Given the description of an element on the screen output the (x, y) to click on. 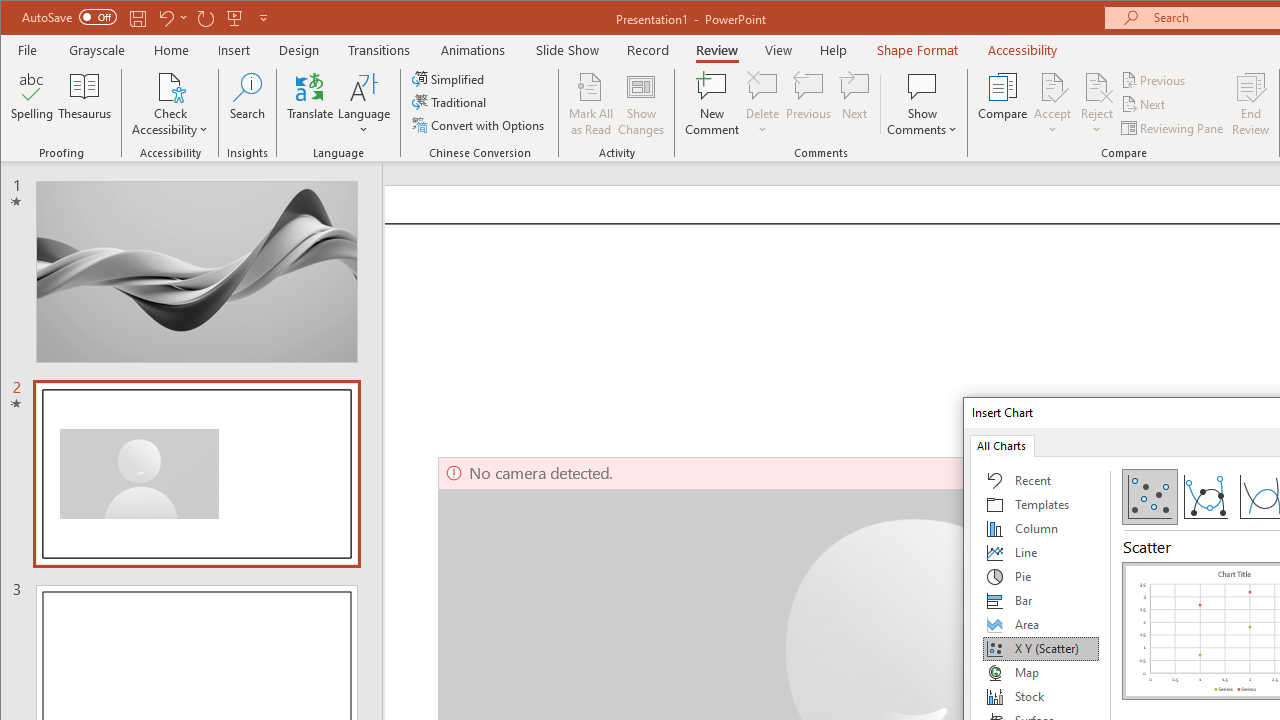
Grayscale (97, 50)
Reject (1096, 104)
Simplified (450, 78)
Show Comments (922, 104)
Delete (762, 86)
Recent (1041, 480)
Translate (310, 104)
Stock (1041, 696)
Compare (1002, 104)
Accept (1052, 104)
